Given the description of an element on the screen output the (x, y) to click on. 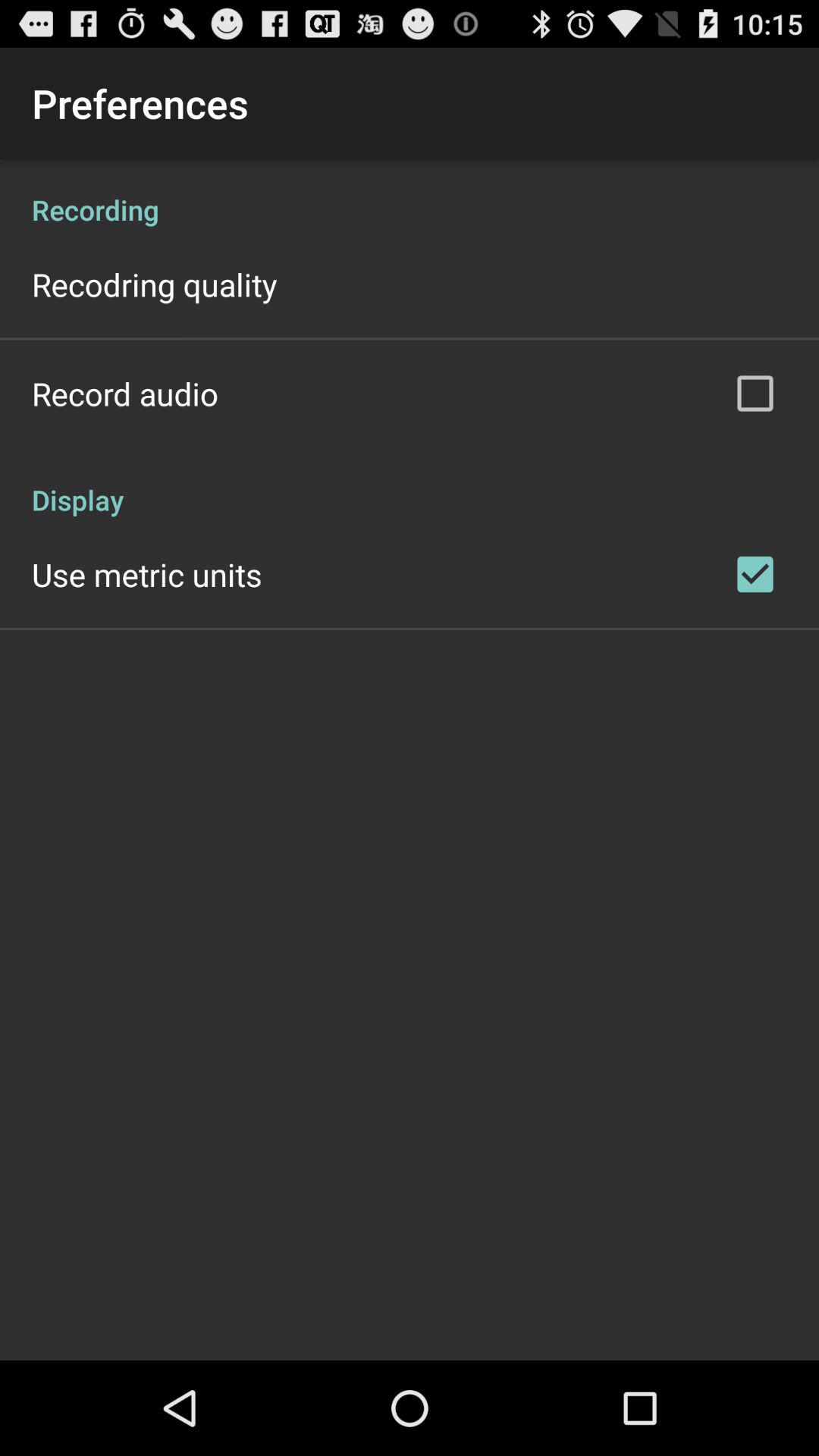
scroll to the use metric units (146, 574)
